Given the description of an element on the screen output the (x, y) to click on. 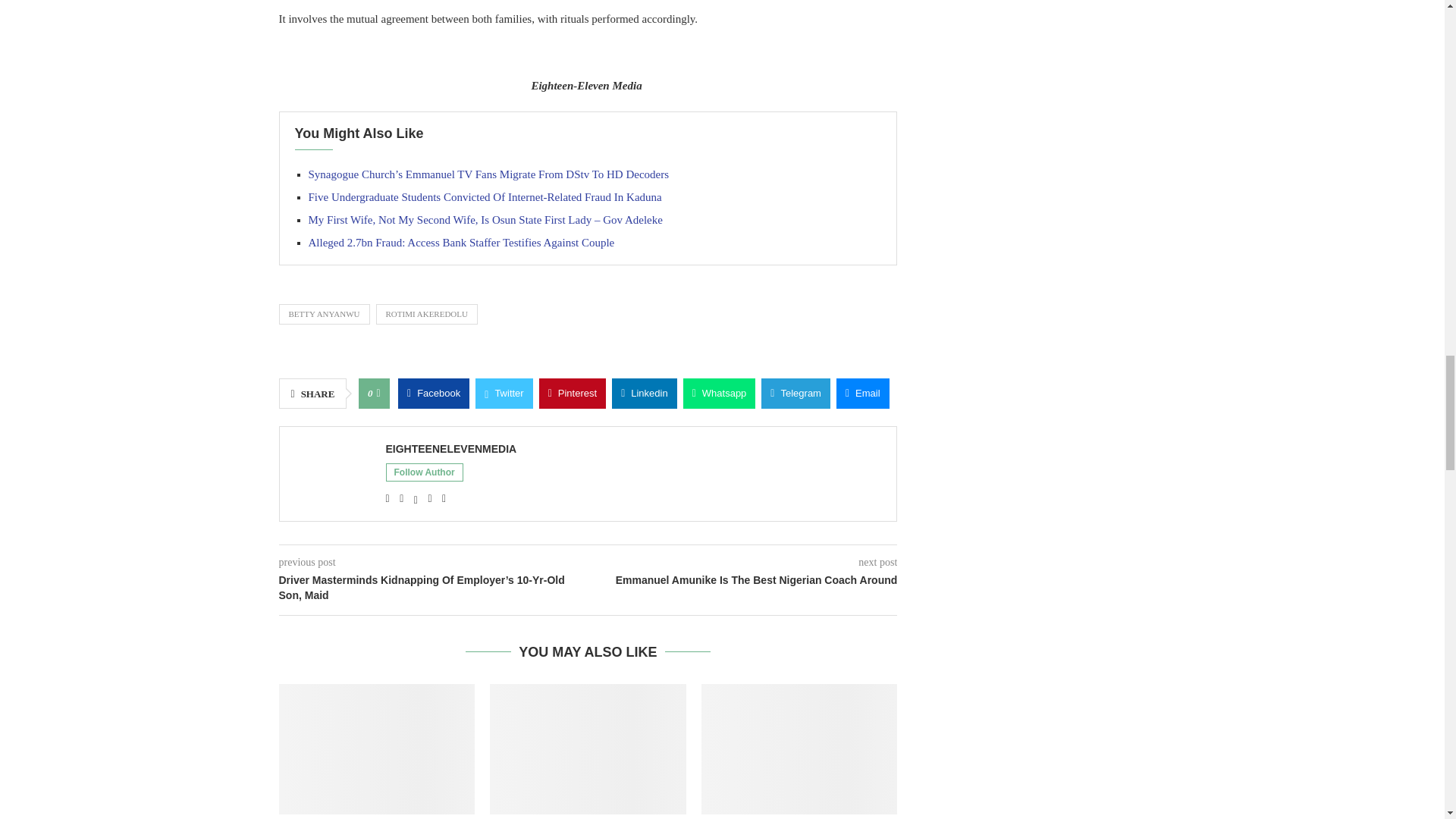
NAFDAC Clarifies Standards, Regulations On Milk Products (377, 748)
Author eighteenelevenmedia (450, 449)
